Given the description of an element on the screen output the (x, y) to click on. 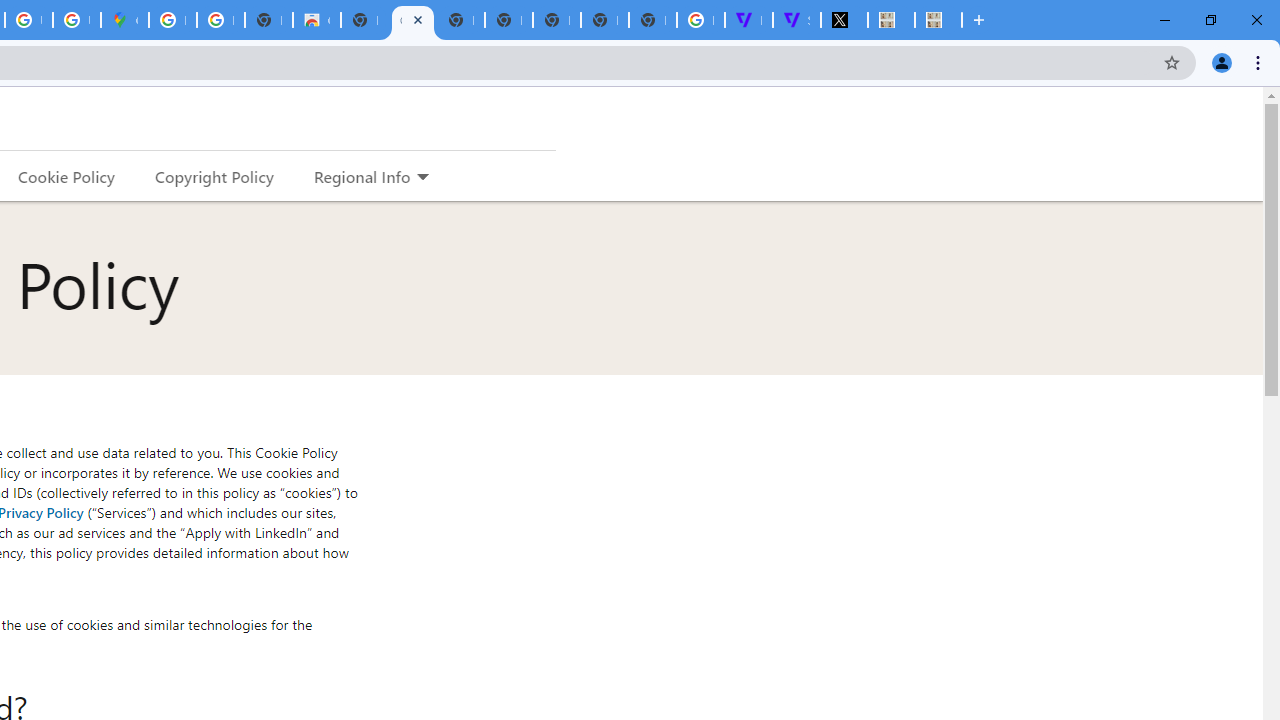
Copyright Policy (213, 176)
Cookie Policy | LinkedIn (412, 20)
New Tab (652, 20)
Miley Cyrus (@MileyCyrus) / X (843, 20)
MILEY CYRUS. (891, 20)
Minimize (1165, 20)
Restore (1210, 20)
Close (418, 19)
Google Maps (124, 20)
